Given the description of an element on the screen output the (x, y) to click on. 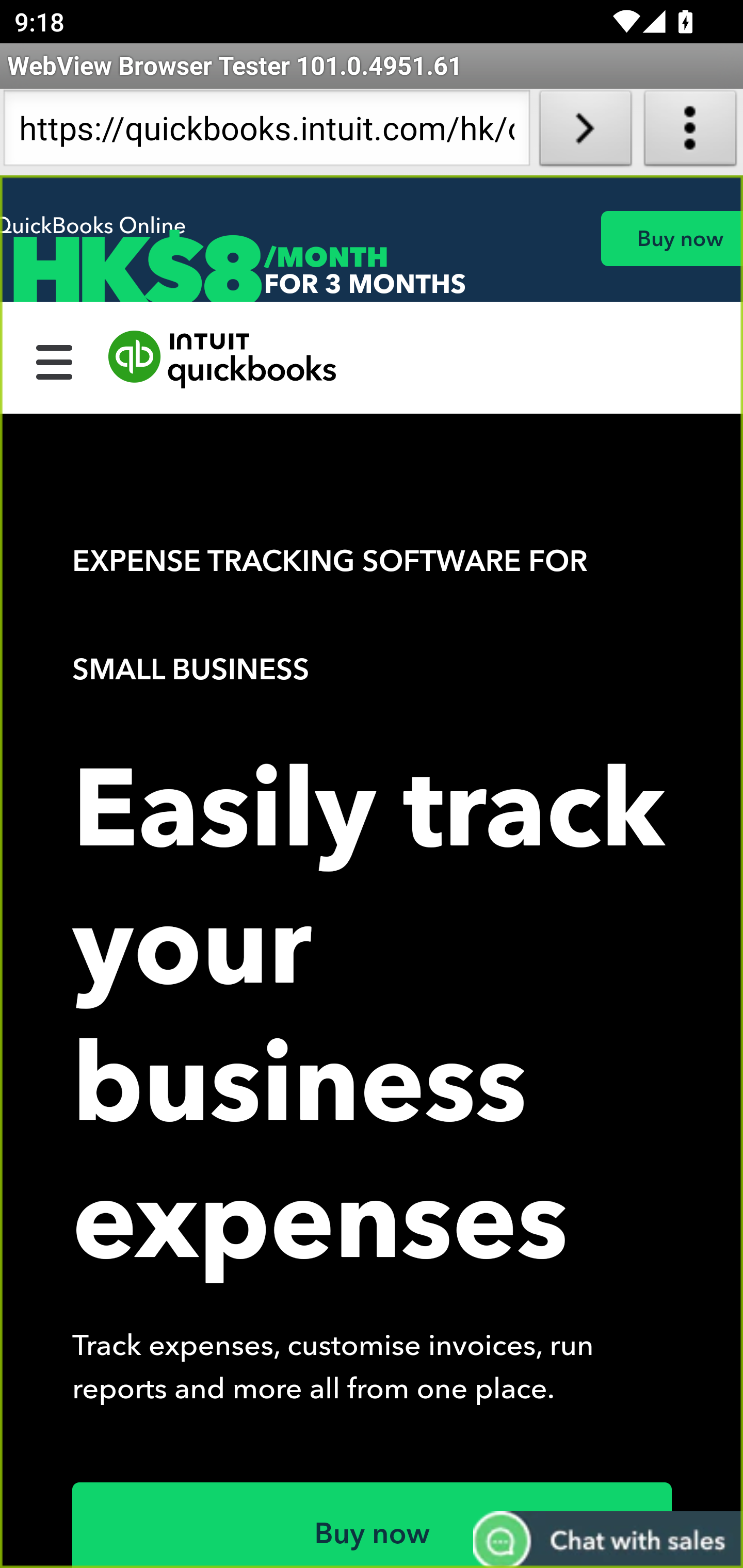
Load URL (585, 132)
About WebView (690, 132)
Buy now (671, 238)
quickbooks-mobile-burger (54, 359)
quickbooks (222, 359)
Buy now (372, 1524)
